Given the description of an element on the screen output the (x, y) to click on. 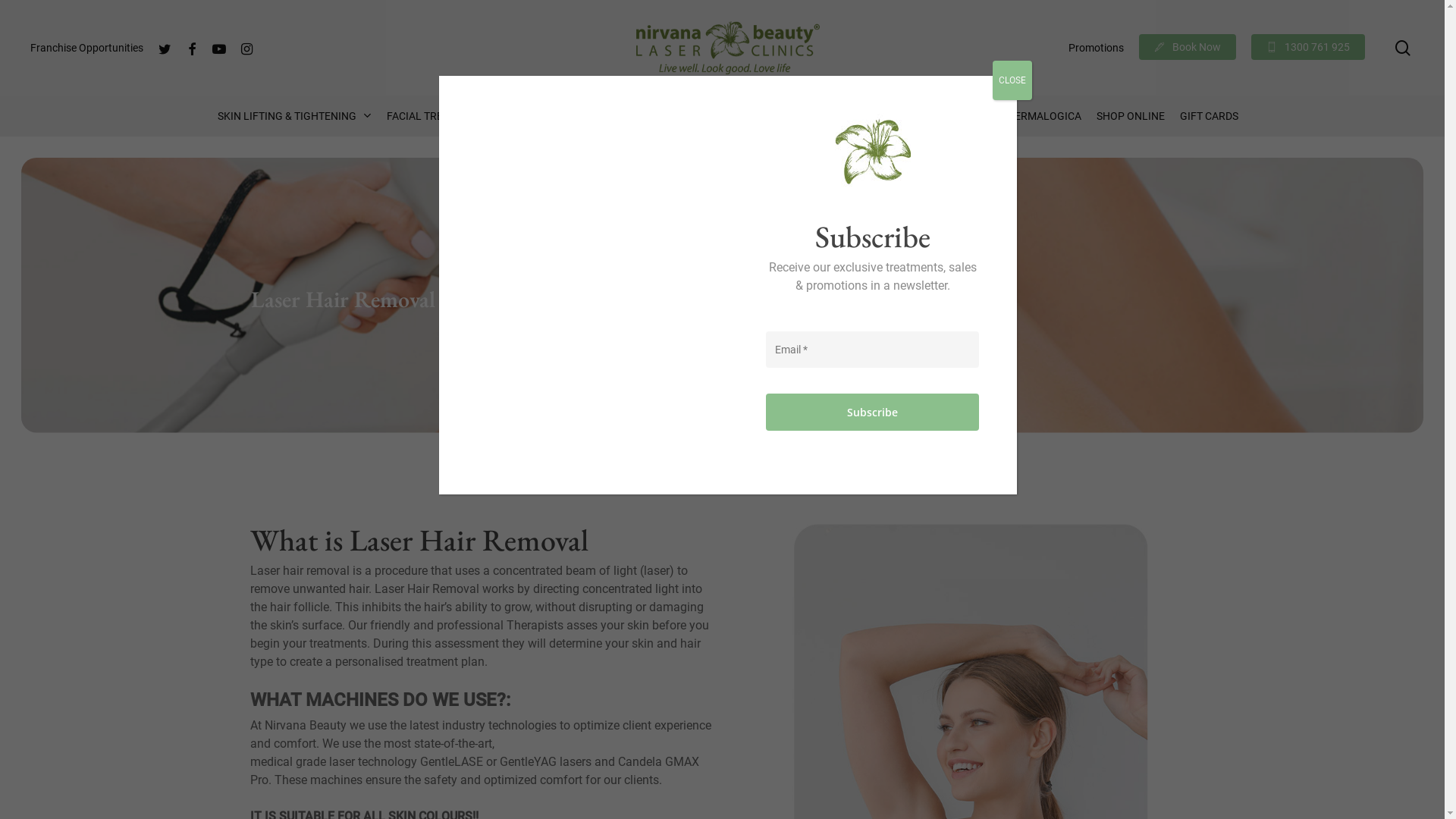
Book Now Element type: text (1187, 47)
CLOSE Element type: text (1012, 80)
GENERAL BEAUTY Element type: text (940, 115)
facebook Element type: text (191, 47)
instagram Element type: text (246, 47)
search Element type: text (1402, 47)
Franchise Opportunities Element type: text (86, 47)
BODY Element type: text (646, 115)
HAIR REMOVAL Element type: text (565, 115)
FACIAL TREATMENTS Element type: text (445, 115)
GIFT CARDS Element type: text (1208, 115)
SHOP ONLINE Element type: text (1130, 115)
youtube Element type: text (218, 47)
Subscribe Element type: text (872, 411)
SKIN LIFTING & TIGHTENING Element type: text (294, 115)
COSMETIC INJECTABLES / THREADS Element type: text (778, 115)
twitter Element type: text (164, 47)
DERMALOGICA Element type: text (1044, 115)
1300 761 925 Element type: text (1308, 47)
Promotions Element type: text (1095, 47)
